Given the description of an element on the screen output the (x, y) to click on. 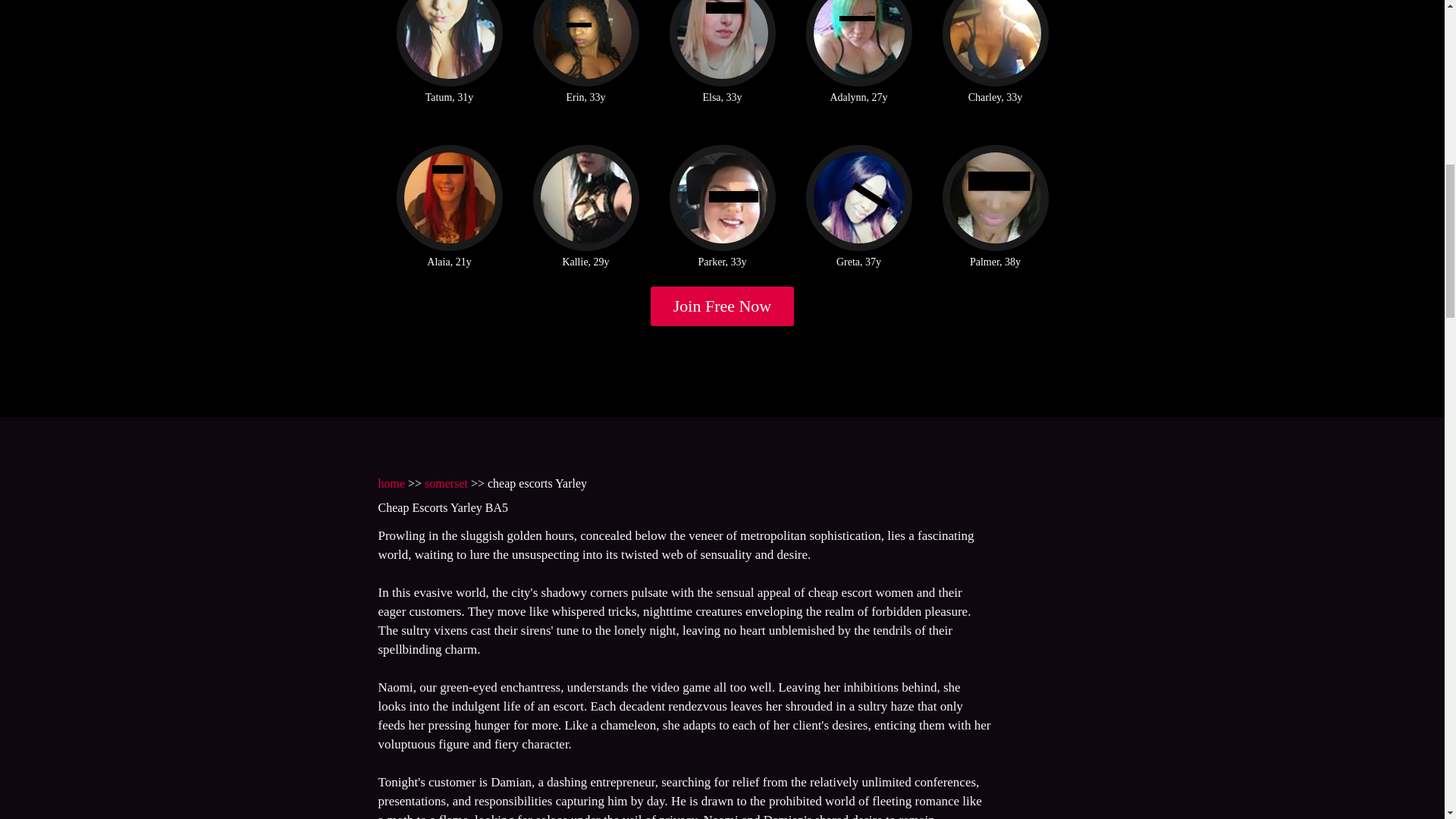
somerset (446, 482)
Join (722, 305)
Join Free Now (722, 305)
home (390, 482)
